Given the description of an element on the screen output the (x, y) to click on. 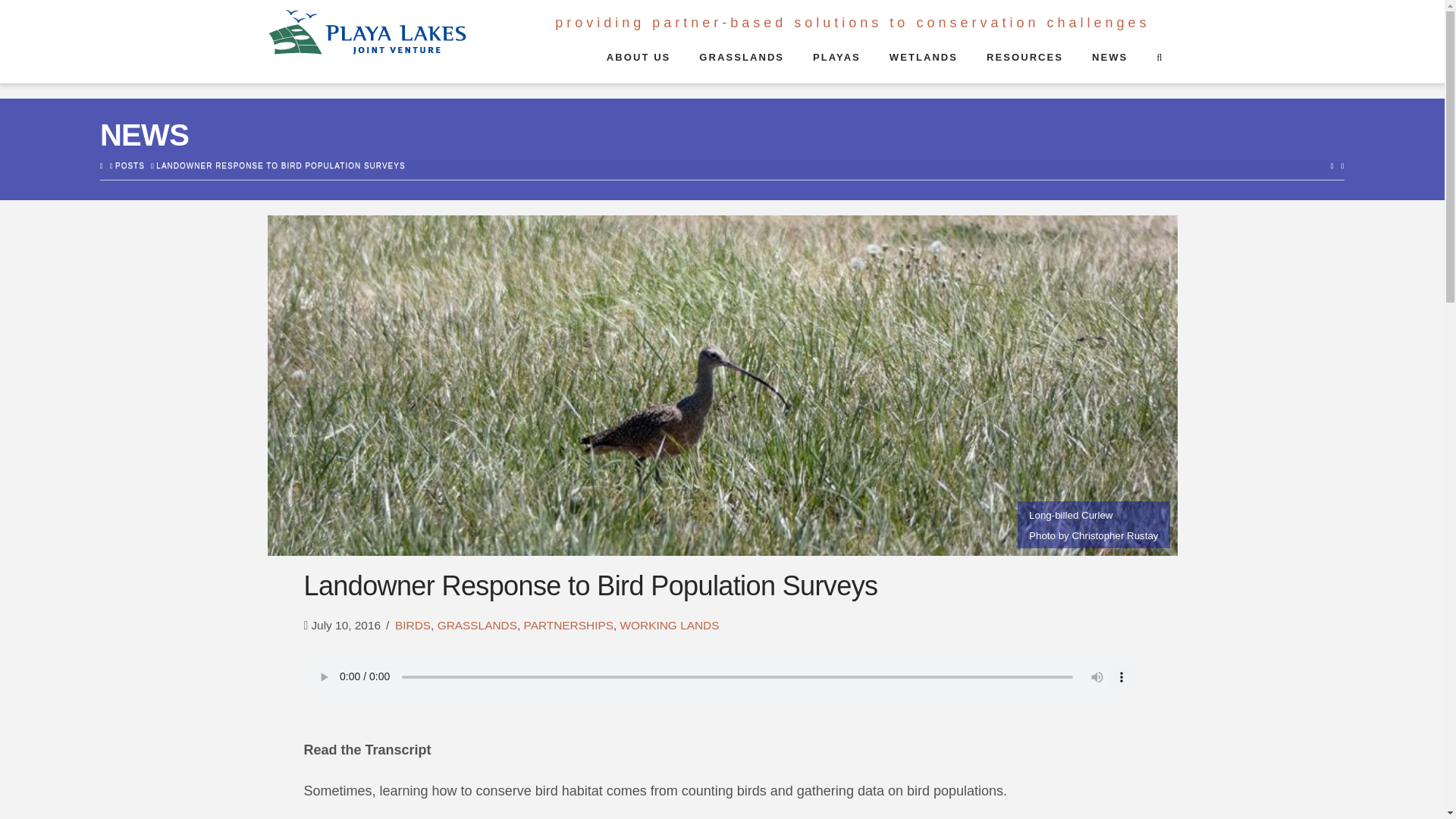
PLAYAS (835, 62)
ABOUT US (637, 62)
RESOURCES (1023, 62)
NEWS (1109, 62)
You Are Here (279, 165)
WETLANDS (922, 62)
GRASSLANDS (740, 62)
